Given the description of an element on the screen output the (x, y) to click on. 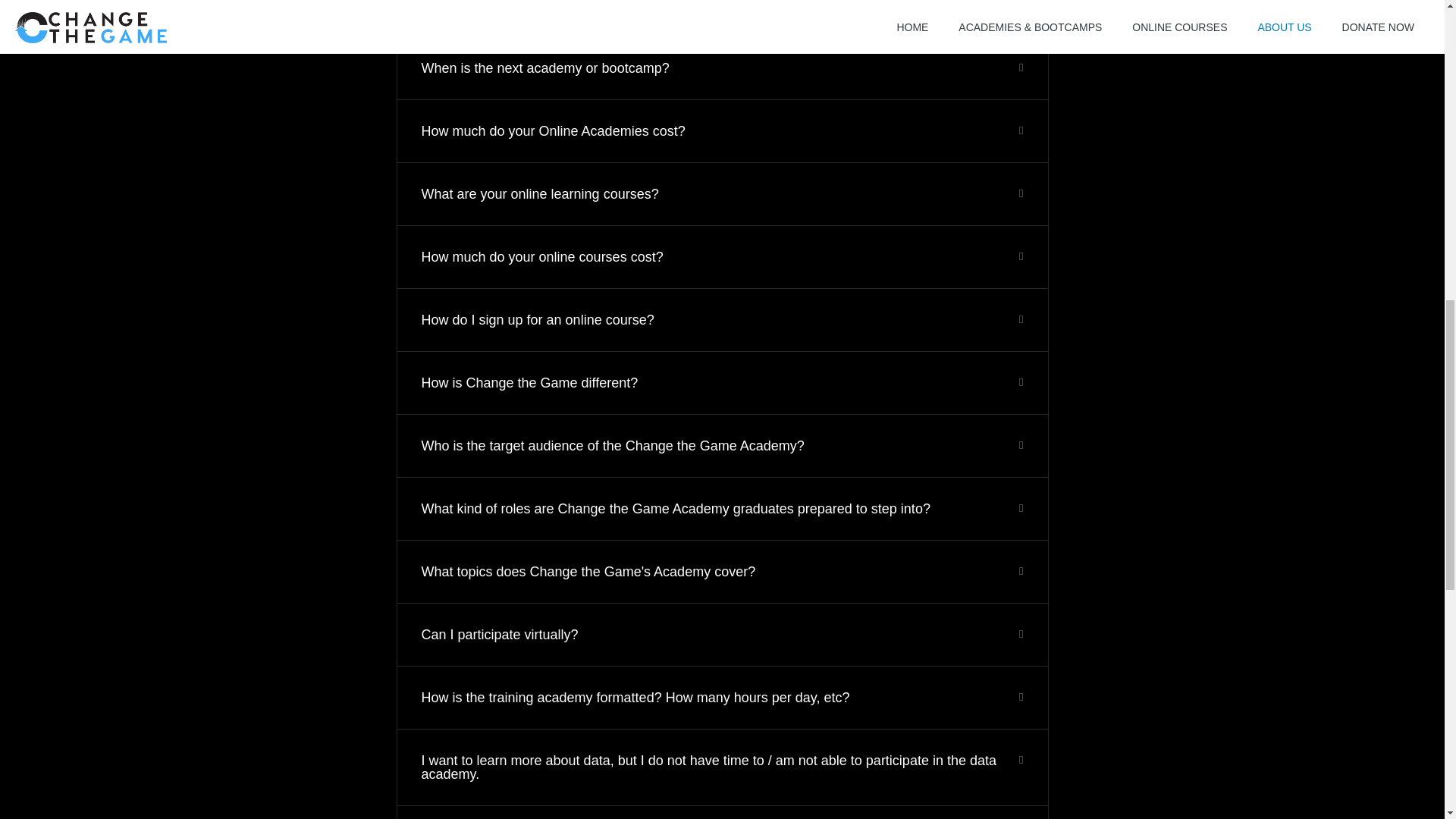
What topics does Change the Game's Academy cover? (588, 571)
How much do your online courses cost? (542, 256)
When is the next academy or bootcamp? (545, 68)
How much do your Online Academies cost? (553, 130)
What are your online learning courses? (540, 193)
Who is the target audience of the Change the Game Academy? (613, 445)
How do I sign up for an online course? (537, 319)
How is Change the Game different? (530, 382)
Can I participate virtually? (500, 634)
